Given the description of an element on the screen output the (x, y) to click on. 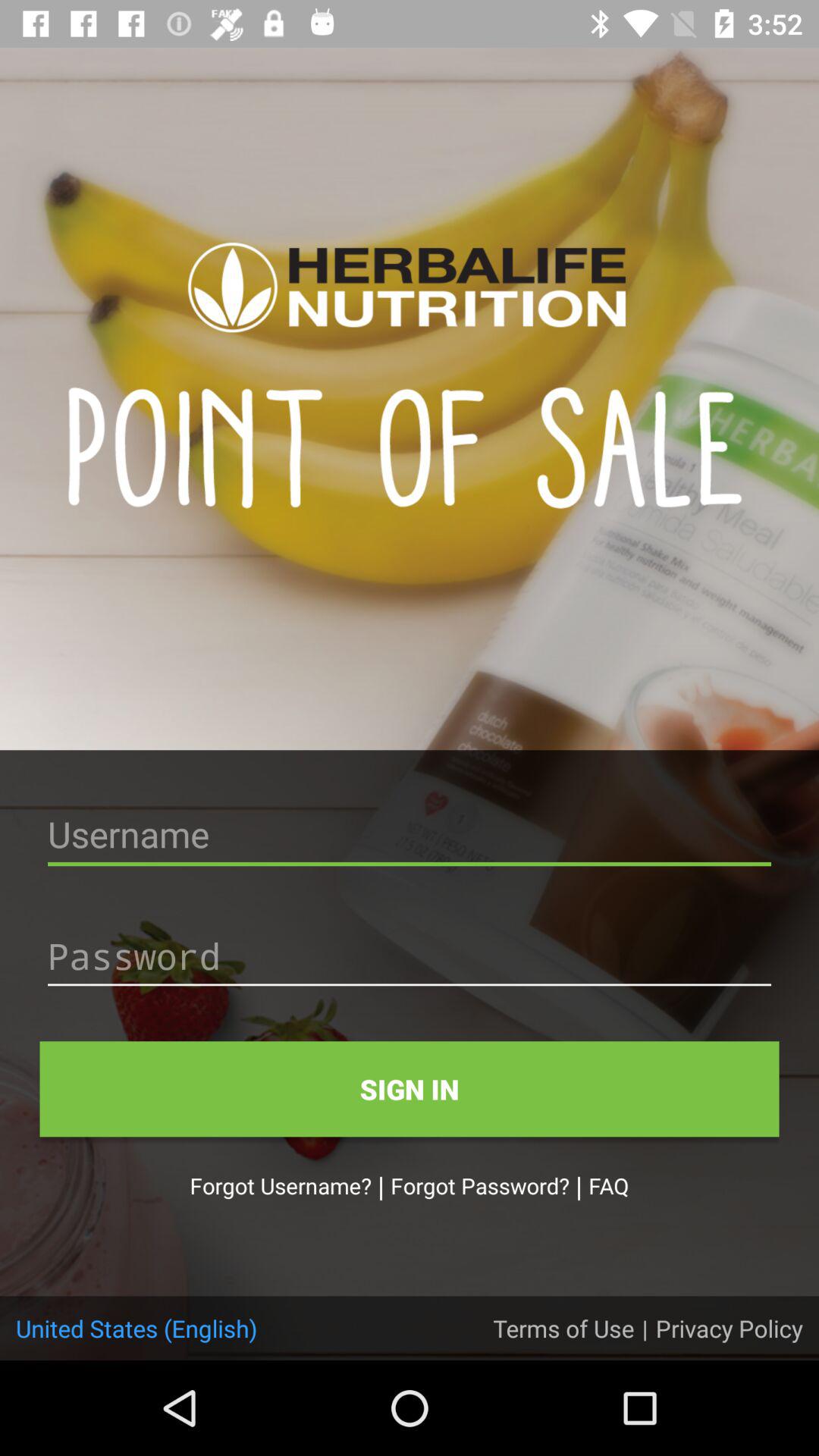
select the privacy policy (729, 1328)
